Given the description of an element on the screen output the (x, y) to click on. 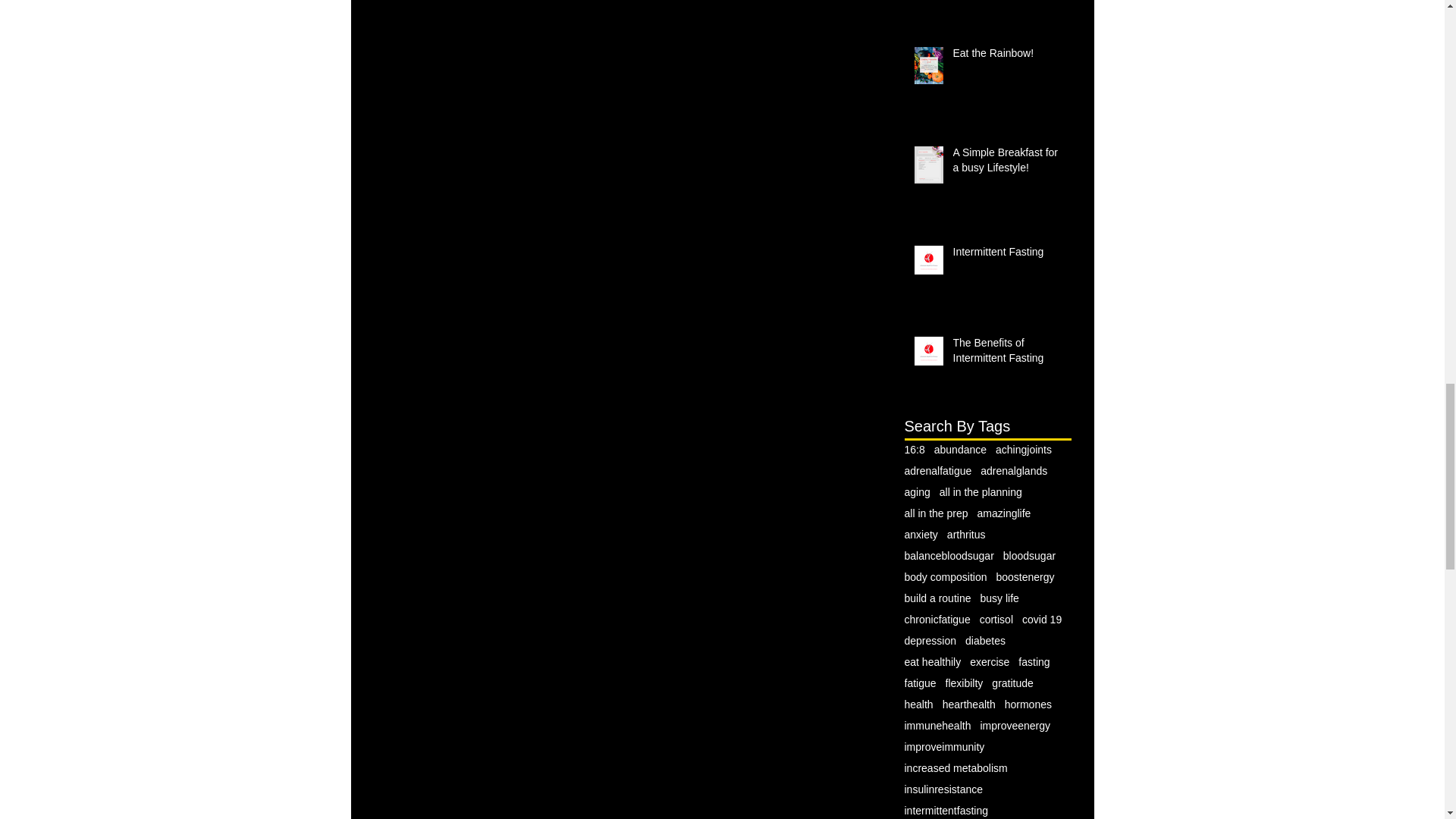
aging (917, 491)
achingjoints (1023, 449)
all in the prep (936, 512)
adrenalglands (1012, 470)
The Benefits of Intermittent Fasting (1006, 353)
Intermittent Fasting (1006, 255)
A Simple Breakfast for a busy Lifestyle! (1006, 162)
all in the planning (980, 491)
abundance (960, 449)
adrenalfatigue (937, 470)
